Given the description of an element on the screen output the (x, y) to click on. 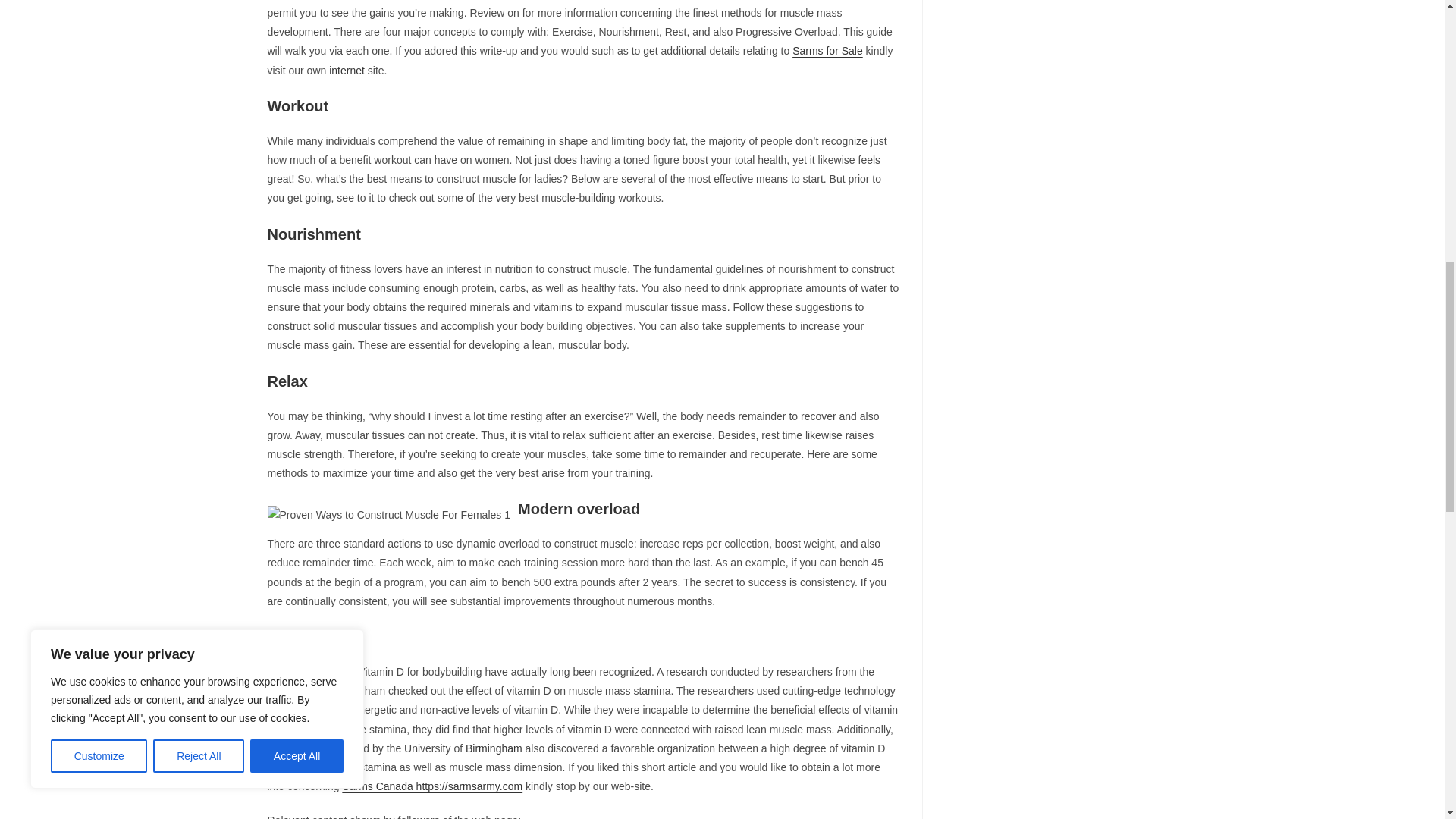
Sarms for Sale (827, 50)
Birmingham (493, 748)
internet (347, 70)
